Given the description of an element on the screen output the (x, y) to click on. 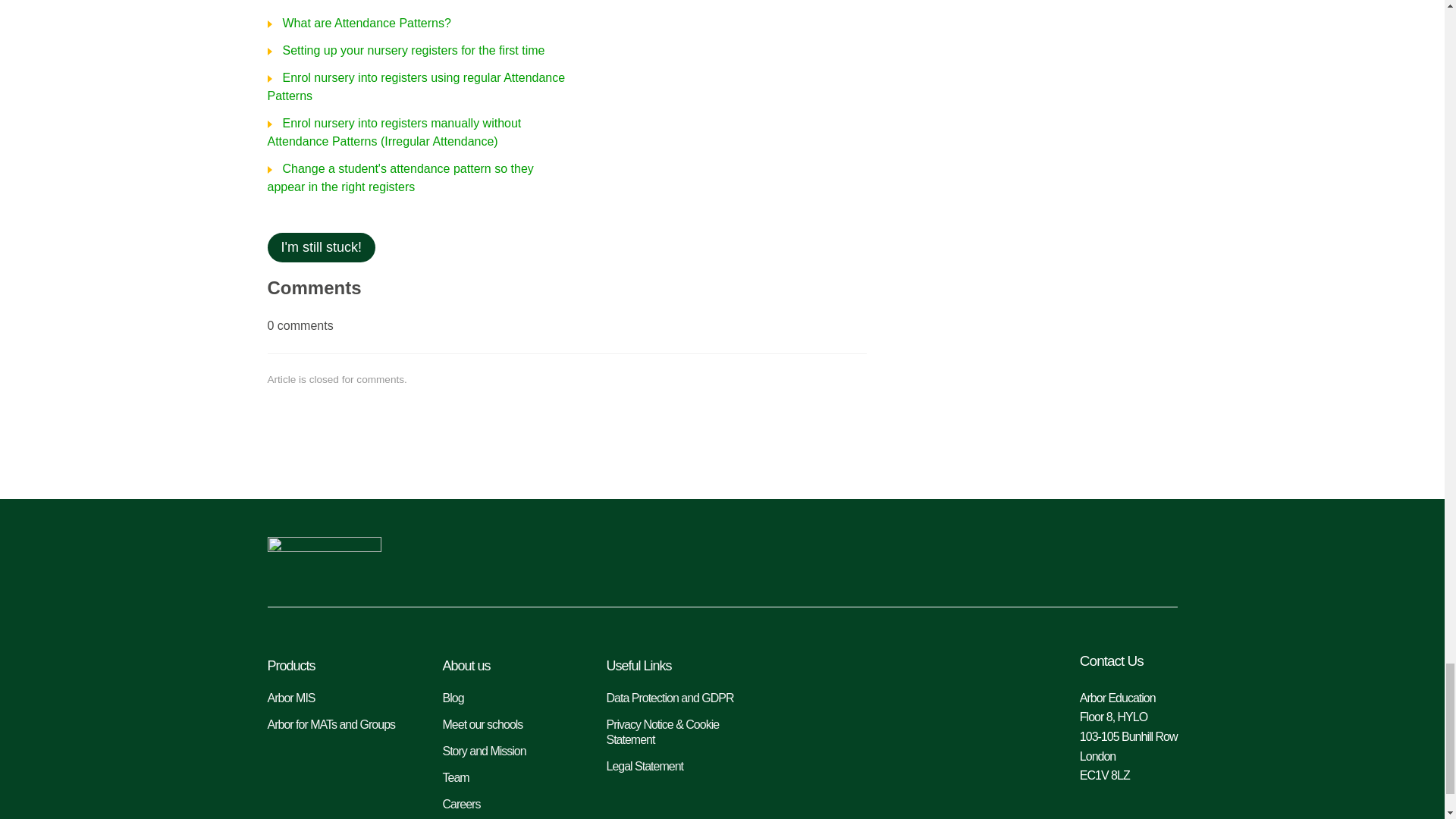
Twitter (1109, 557)
Setting up your nursery registers for the first time (405, 50)
I'm still stuck! (320, 247)
Facebook (1159, 557)
What are Attendance Patterns? (357, 23)
Arbor for MATs and Groups (339, 724)
Linkedin (1061, 557)
